Given the description of an element on the screen output the (x, y) to click on. 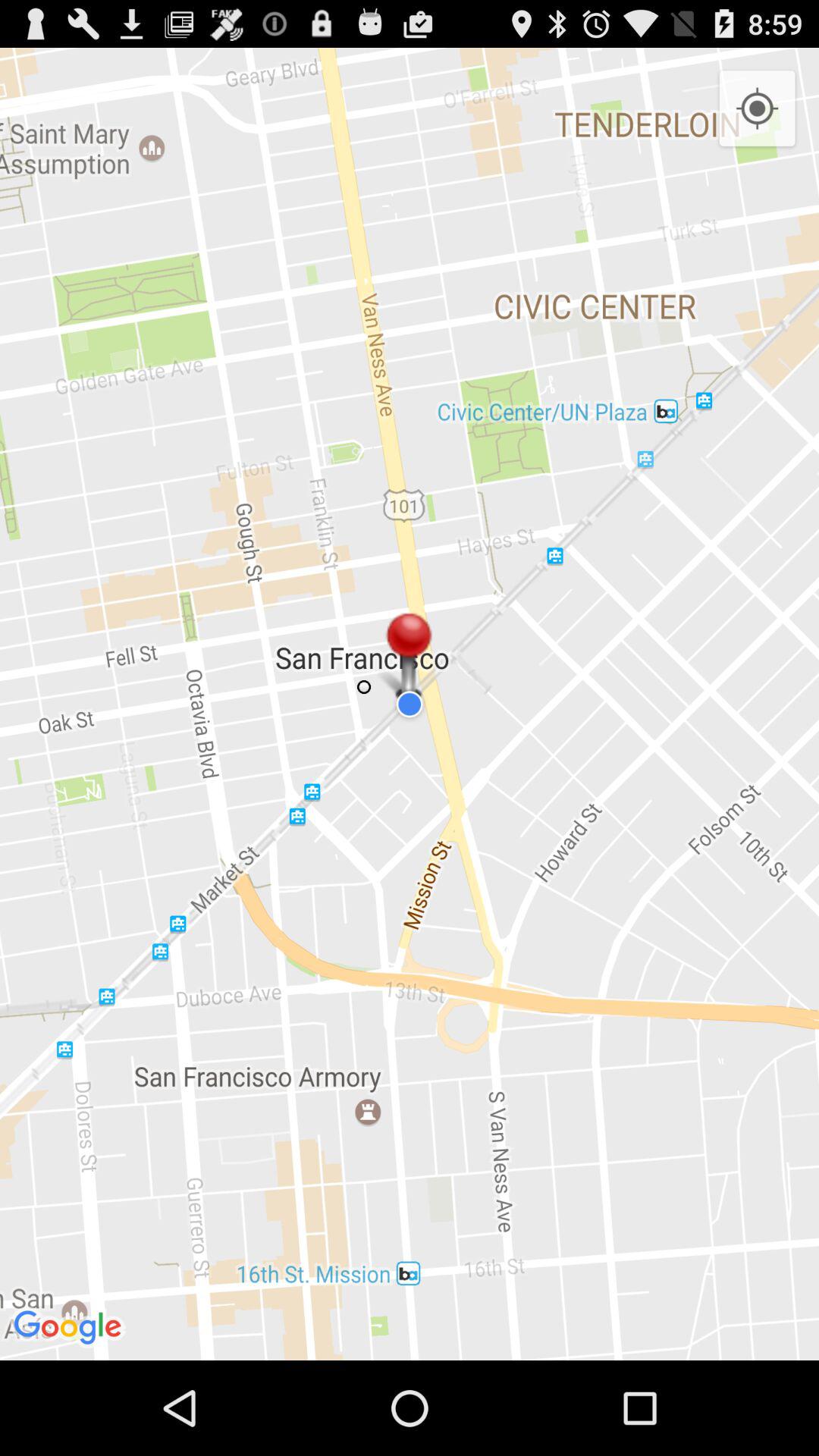
launch the item at the center (409, 703)
